Given the description of an element on the screen output the (x, y) to click on. 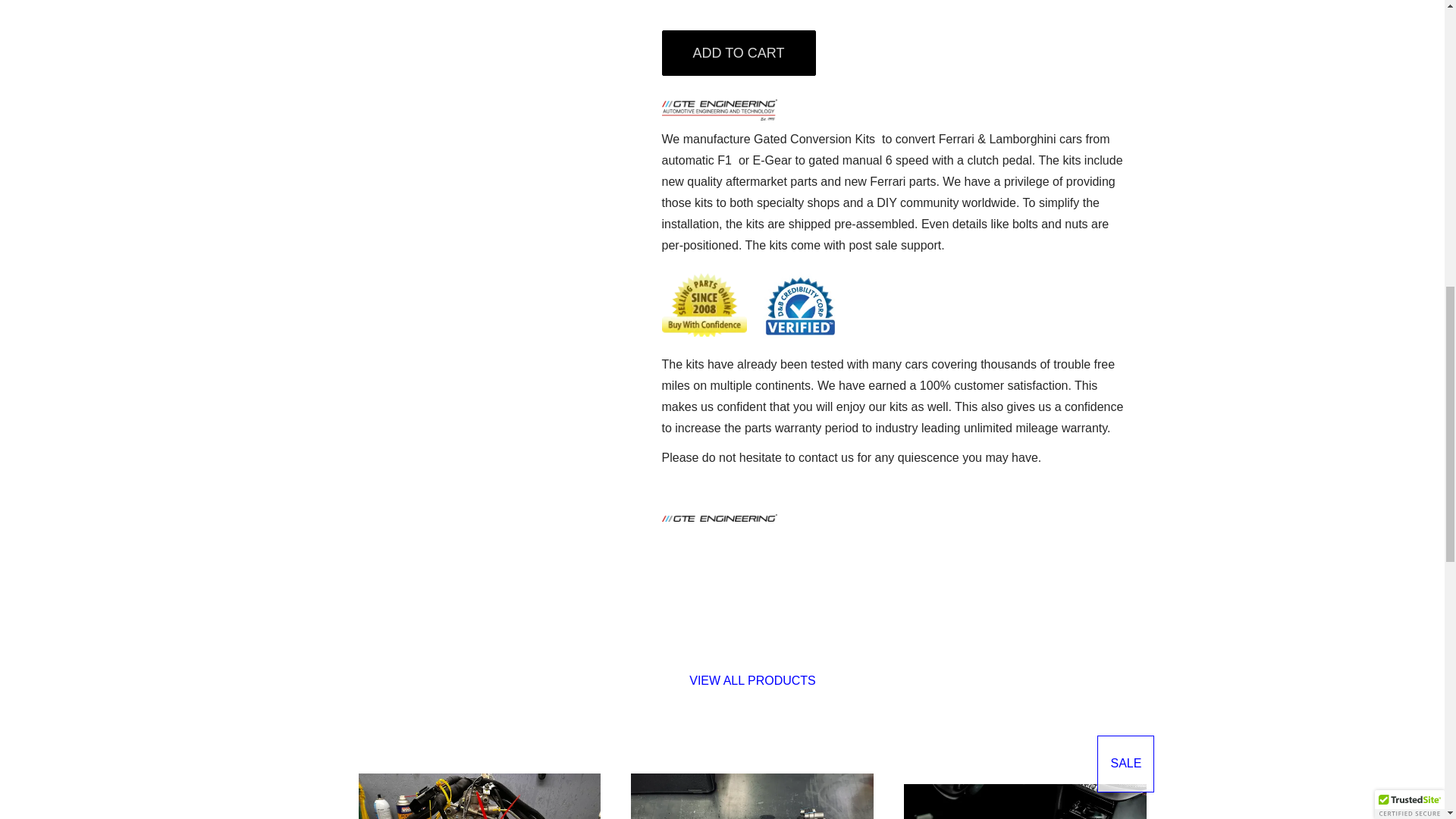
Add to Cart (738, 53)
Add to Cart (738, 53)
VIEW ALL PRODUCTS (751, 680)
